Given the description of an element on the screen output the (x, y) to click on. 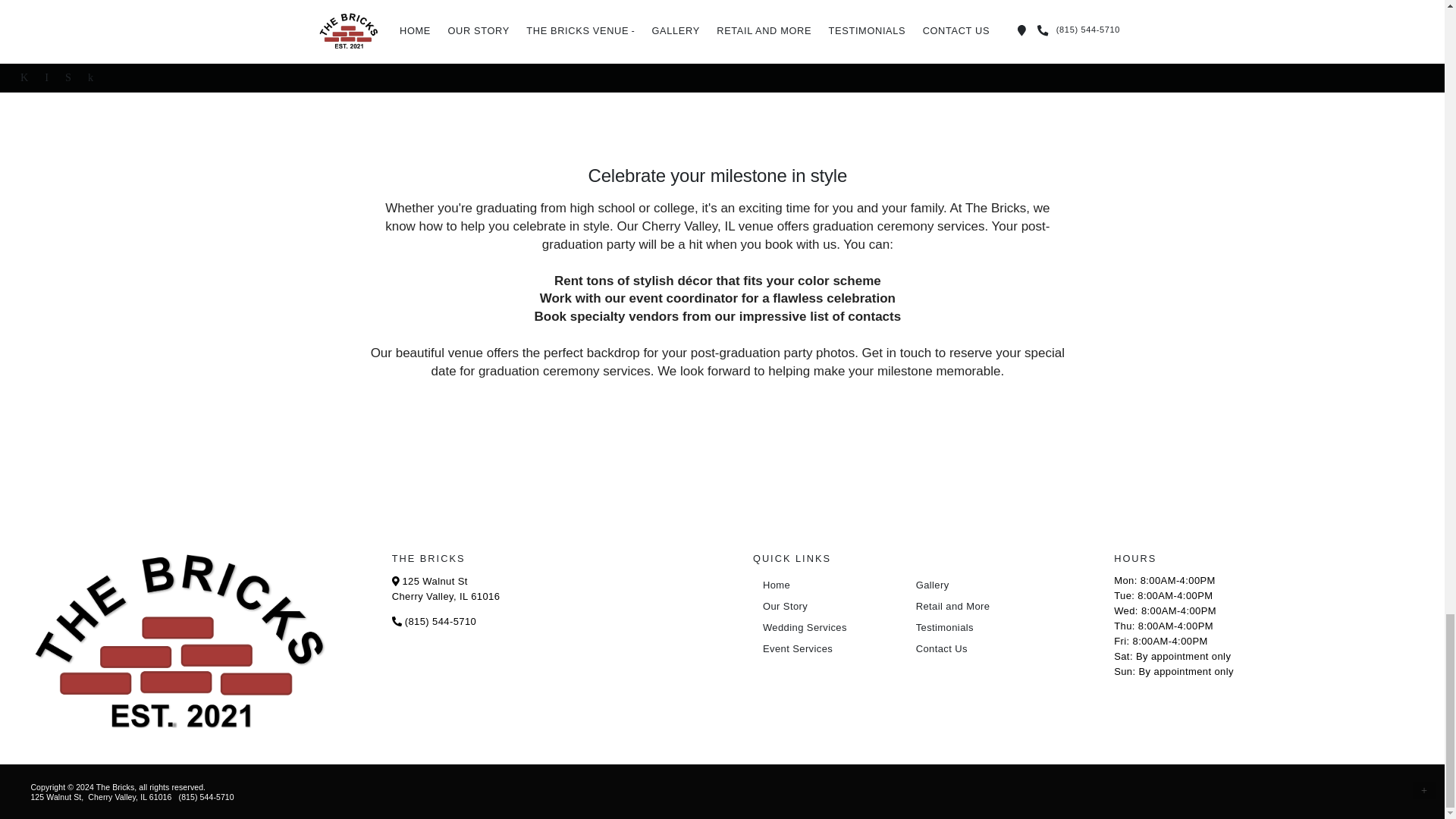
Home (825, 585)
